Given the description of an element on the screen output the (x, y) to click on. 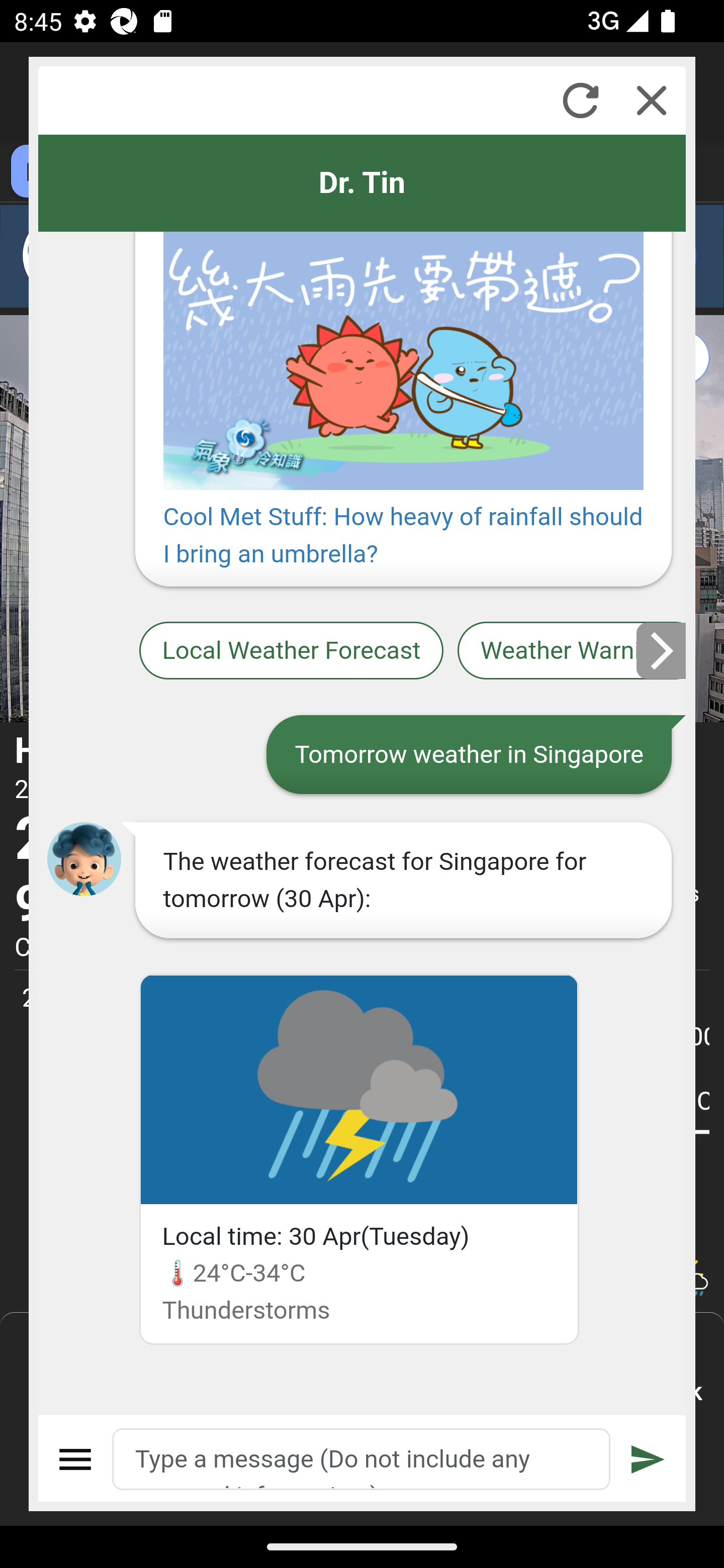
Refresh (580, 100)
Close (651, 100)
Local Weather Forecast (291, 650)
Weather Warnings (571, 650)
Next slide (661, 650)
Menu (75, 1458)
Submit (648, 1458)
